Given the description of an element on the screen output the (x, y) to click on. 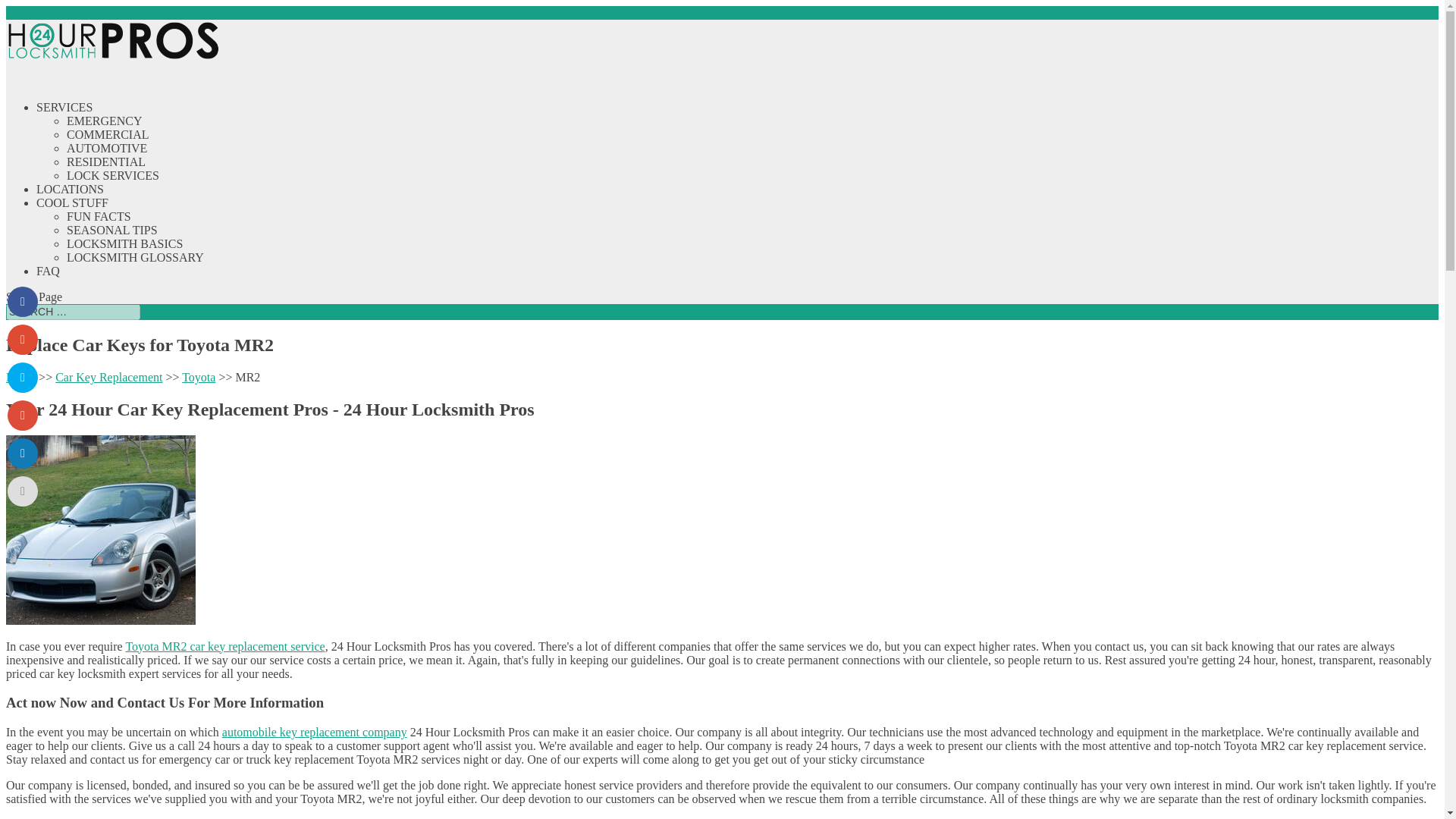
FAQ (47, 283)
Car Key Replacement (108, 377)
RESIDENTIAL (105, 161)
COMMERCIAL (107, 133)
LOCKSMITH BASICS (124, 243)
LOCKSMITH GLOSSARY (134, 256)
AUTOMOTIVE (106, 147)
Search for: (72, 311)
EMERGENCY (104, 120)
automobile key replacement company (314, 731)
SEASONAL TIPS (111, 229)
LOCATIONS (69, 201)
COOL STUFF (71, 214)
Toyota MR2 car key replacement service (224, 645)
SERVICES (64, 119)
